Given the description of an element on the screen output the (x, y) to click on. 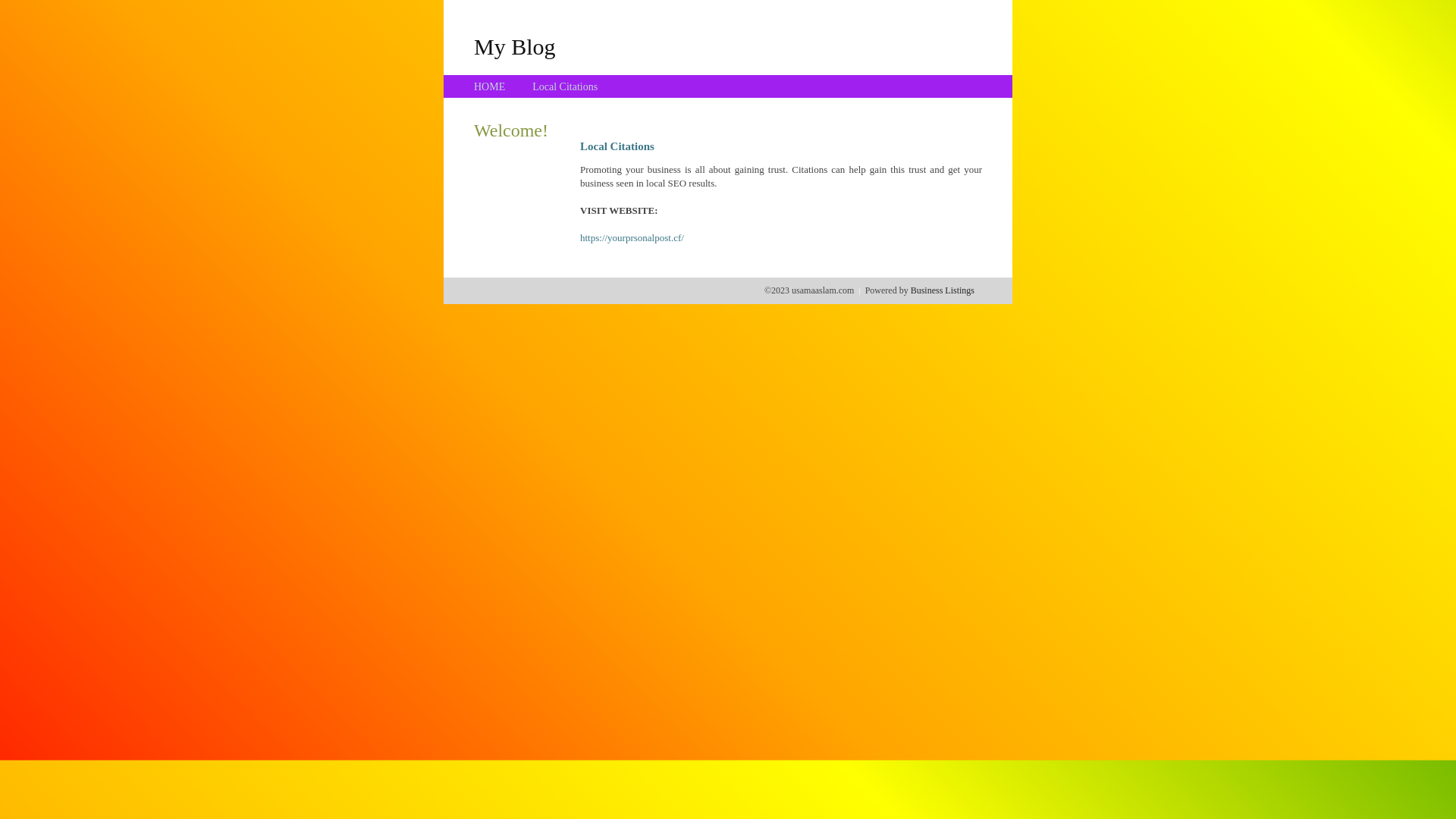
Business Listings Element type: text (942, 290)
My Blog Element type: text (514, 46)
HOME Element type: text (489, 86)
https://yourprsonalpost.cf/ Element type: text (632, 237)
Local Citations Element type: text (564, 86)
